Given the description of an element on the screen output the (x, y) to click on. 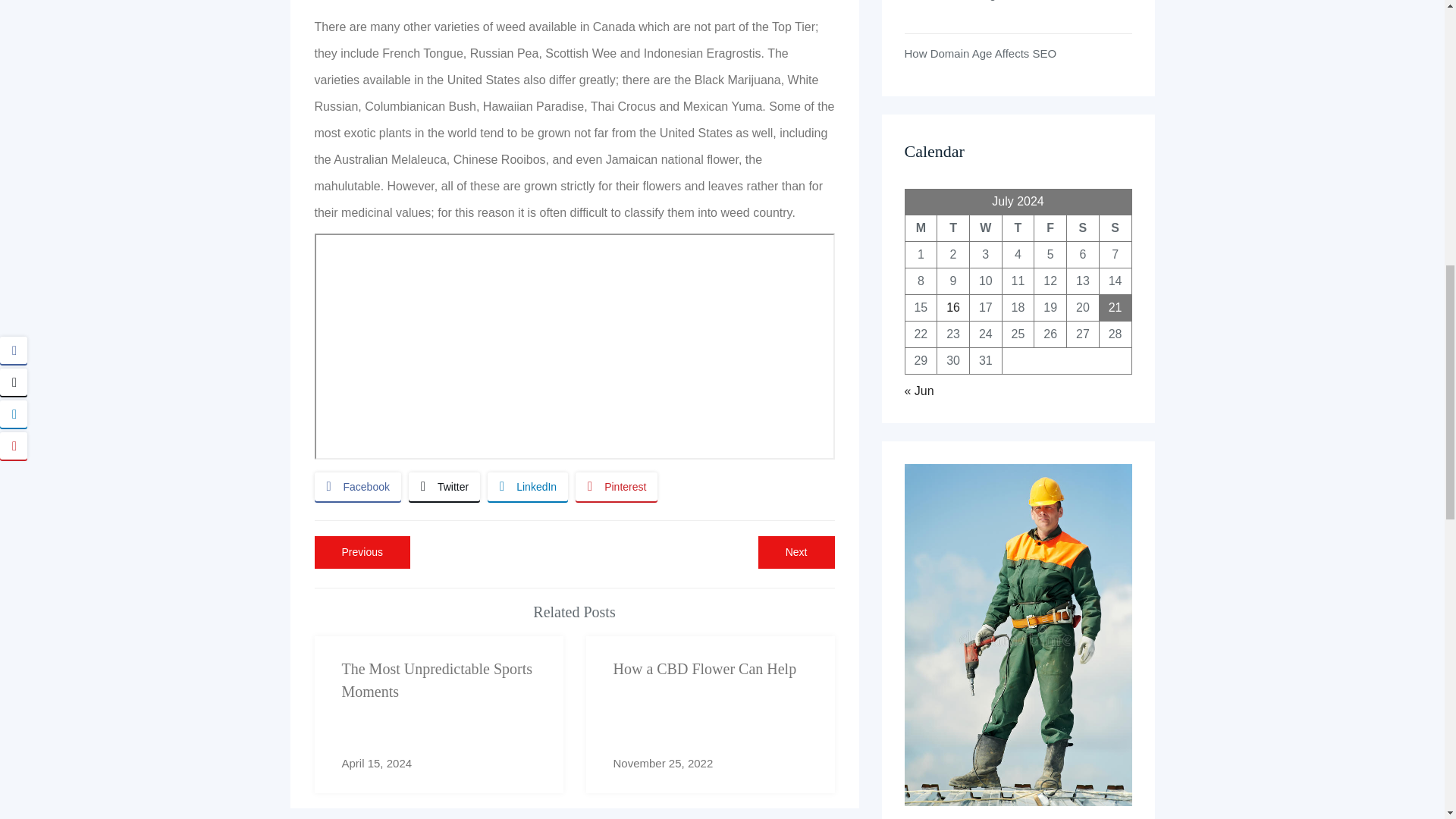
Friday (1050, 227)
Thursday (1017, 227)
16 (709, 714)
Wednesday (952, 307)
Monday (796, 552)
Saturday (985, 227)
Facebook (437, 714)
Pinterest (920, 227)
National Neon Signs Museum (1083, 227)
How Domain Age Affects SEO (357, 486)
Sunday (616, 486)
